Given the description of an element on the screen output the (x, y) to click on. 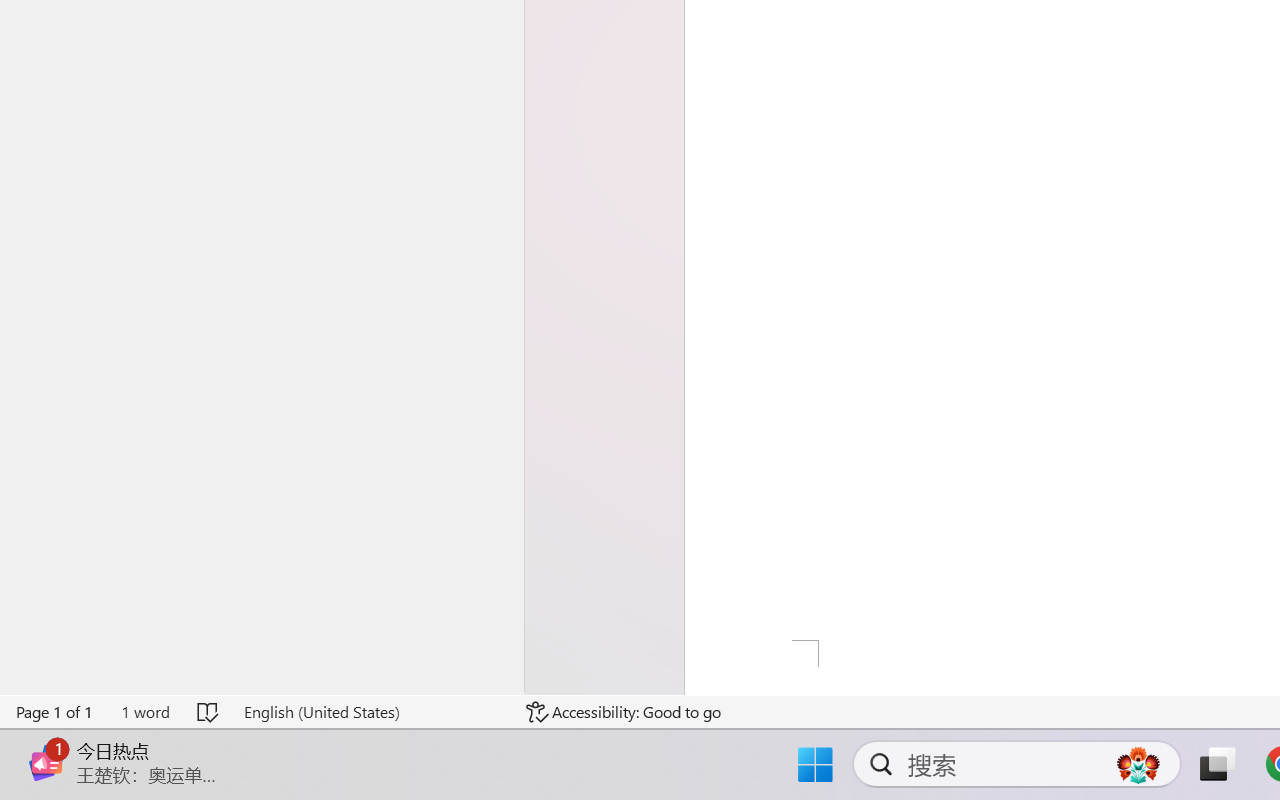
Accessibility Checker Accessibility: Good to go (623, 712)
Spelling and Grammar Check No Errors (208, 712)
Language English (United States) (370, 712)
Class: Image (46, 762)
Word Count 1 word (145, 712)
Page Number Page 1 of 1 (55, 712)
AutomationID: DynamicSearchBoxGleamImage (1138, 764)
